Given the description of an element on the screen output the (x, y) to click on. 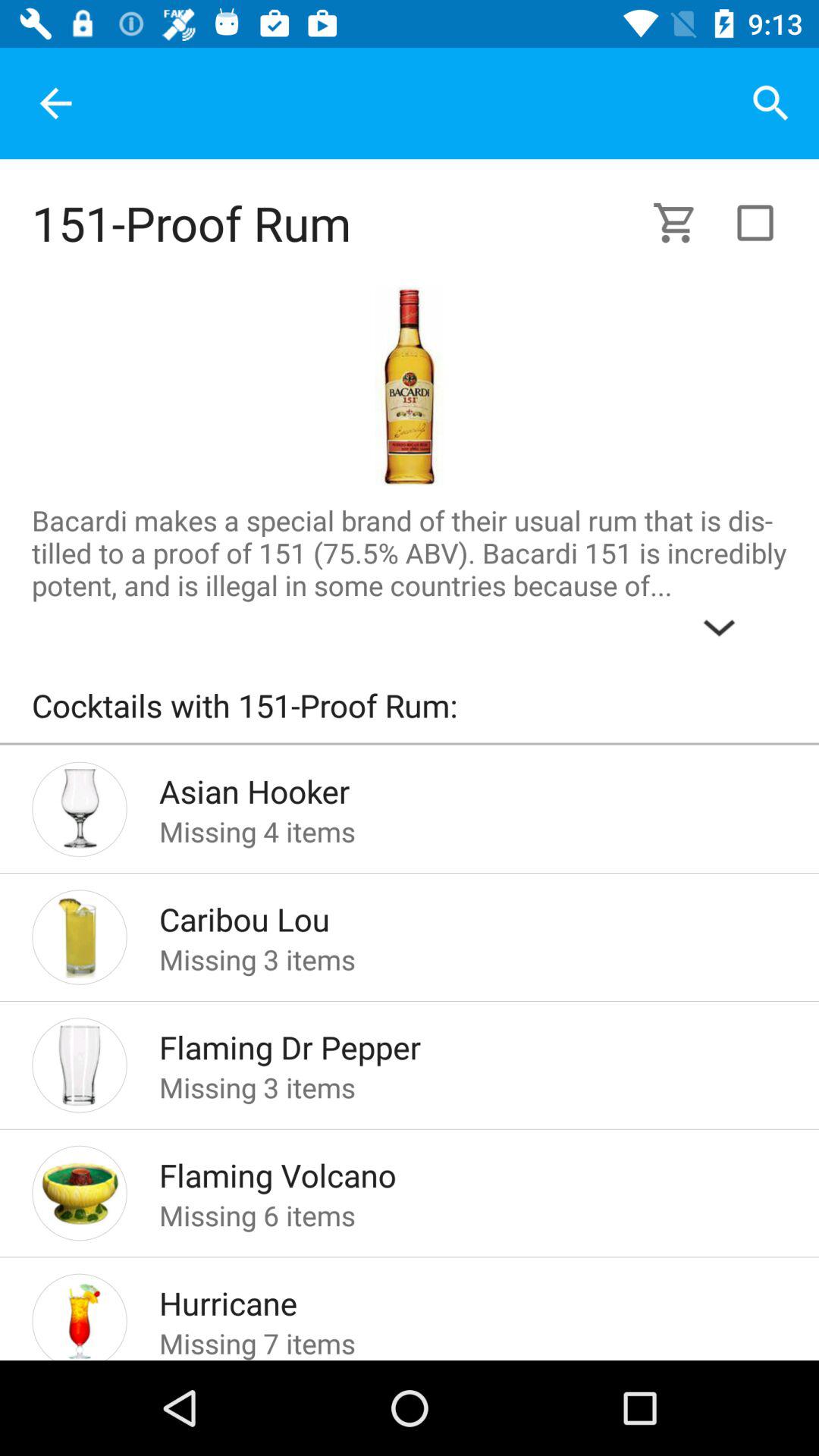
scroll to the caribou lou item (449, 914)
